Given the description of an element on the screen output the (x, y) to click on. 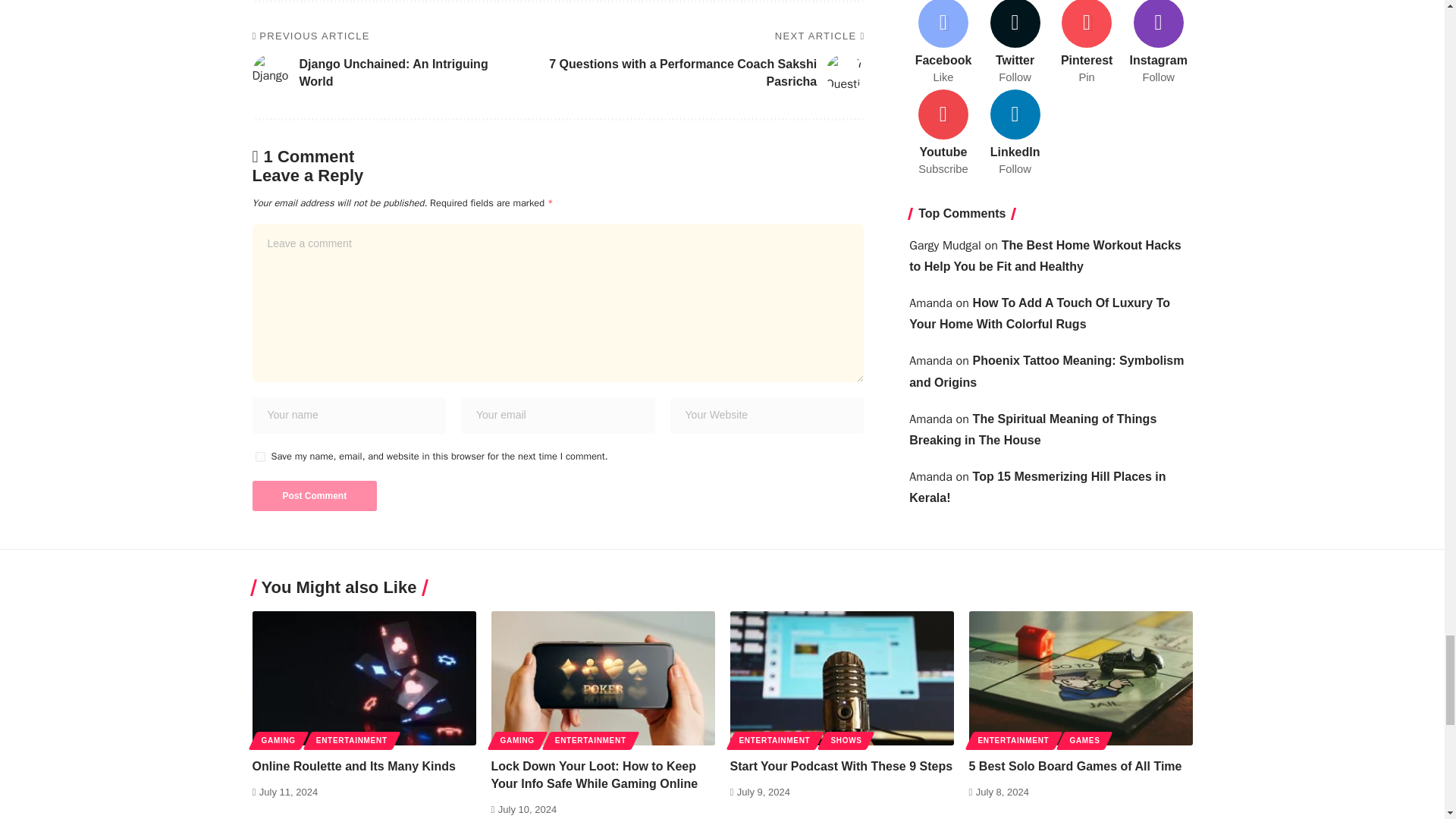
Post Comment (314, 495)
7 Questions with a Performance Coach Sakshi Pasricha 3 (844, 72)
yes (259, 456)
Django Unchained: An Intriguing World 2 (270, 72)
